Given the description of an element on the screen output the (x, y) to click on. 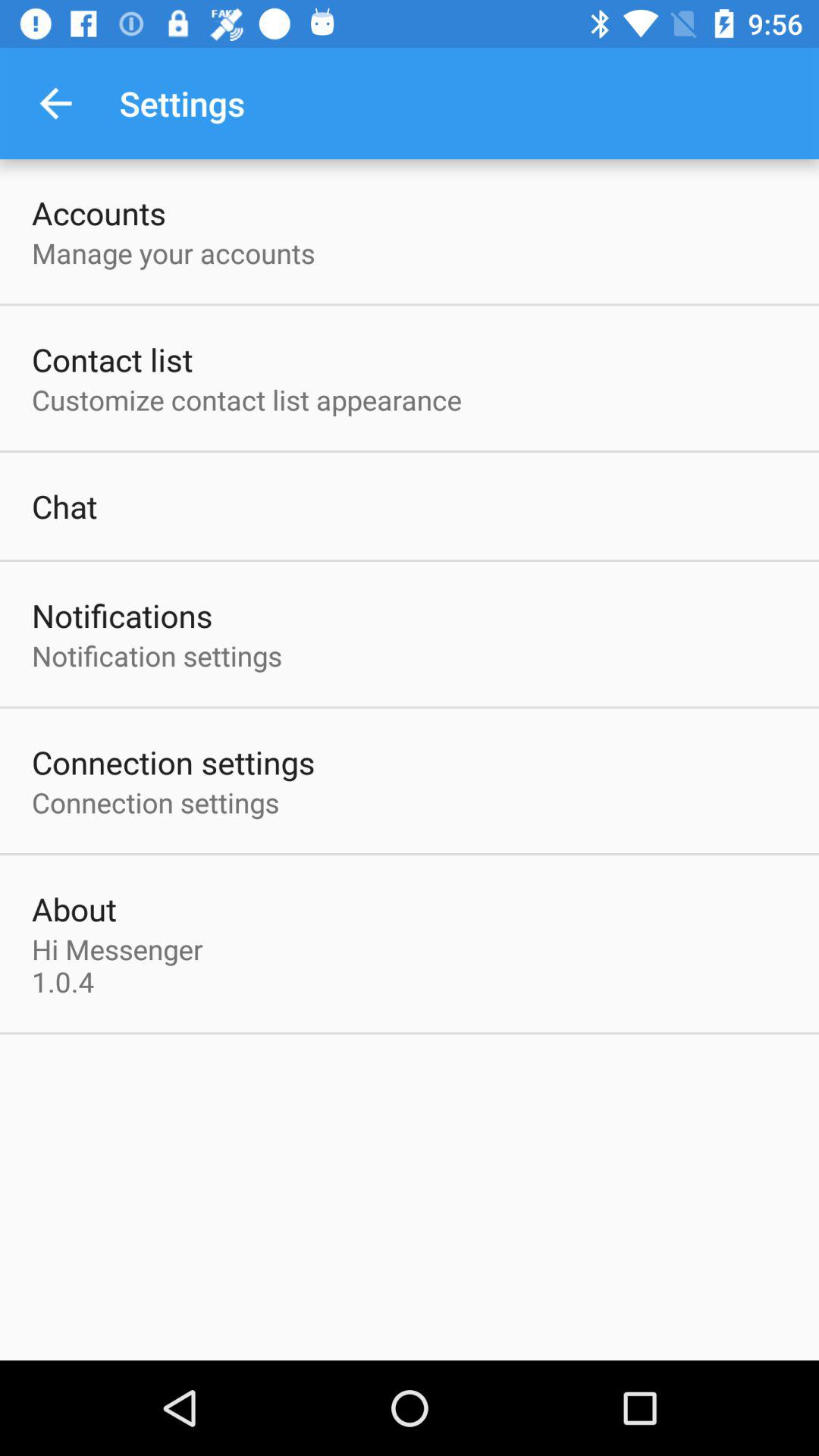
turn off icon above accounts icon (55, 103)
